Given the description of an element on the screen output the (x, y) to click on. 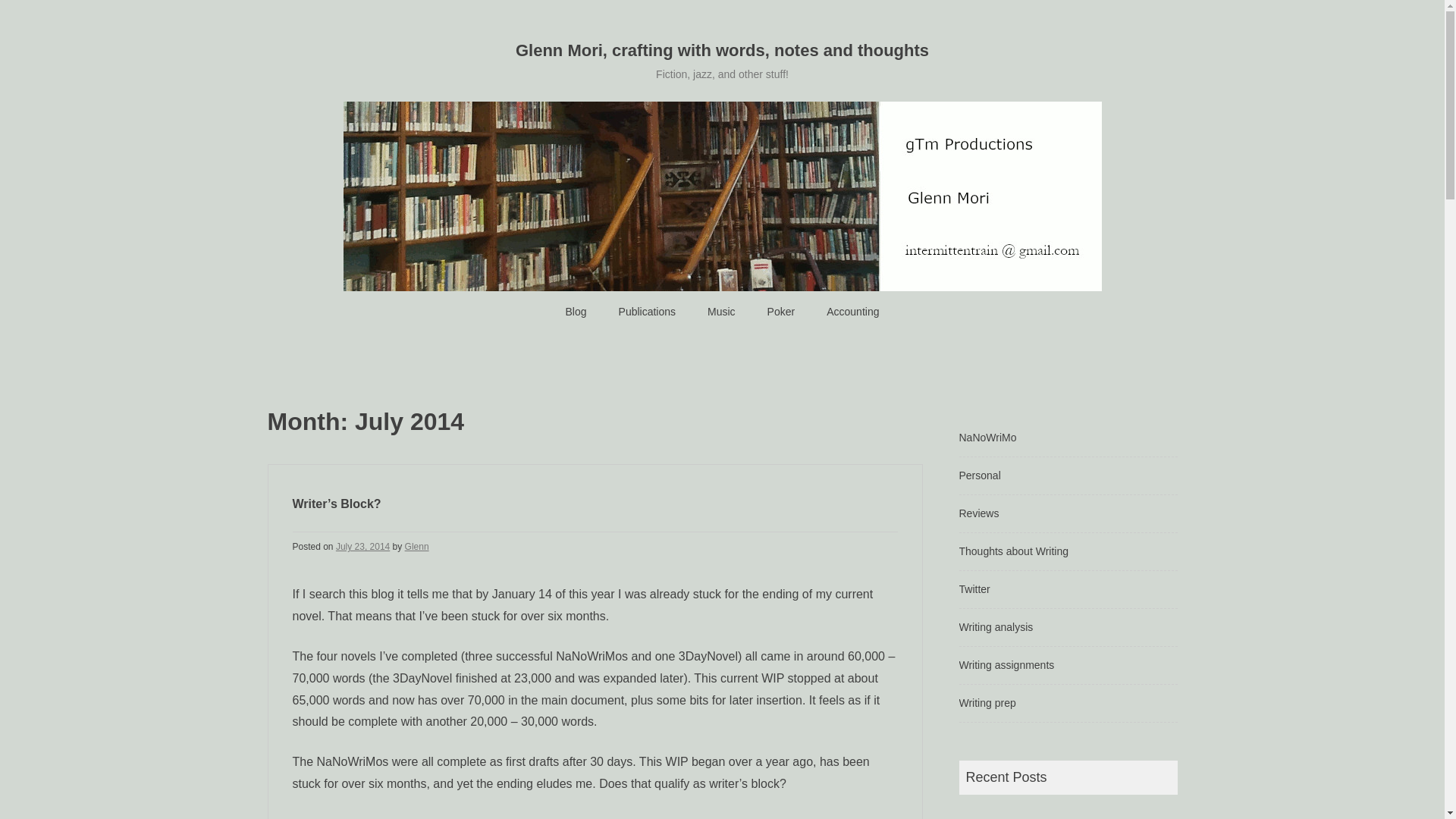
NaNoWriMo (987, 437)
Glenn Mori, crafting with words, notes and thoughts (721, 49)
Personal (979, 475)
Writing analysis (995, 626)
Glenn (416, 546)
Writing prep (986, 702)
Publications (647, 311)
Poker (780, 311)
Reviews (978, 512)
Thoughts about Writing (1013, 551)
July 23, 2014 (363, 546)
Blog (576, 311)
Accounting (852, 311)
Music (721, 311)
Twitter (974, 589)
